Given the description of an element on the screen output the (x, y) to click on. 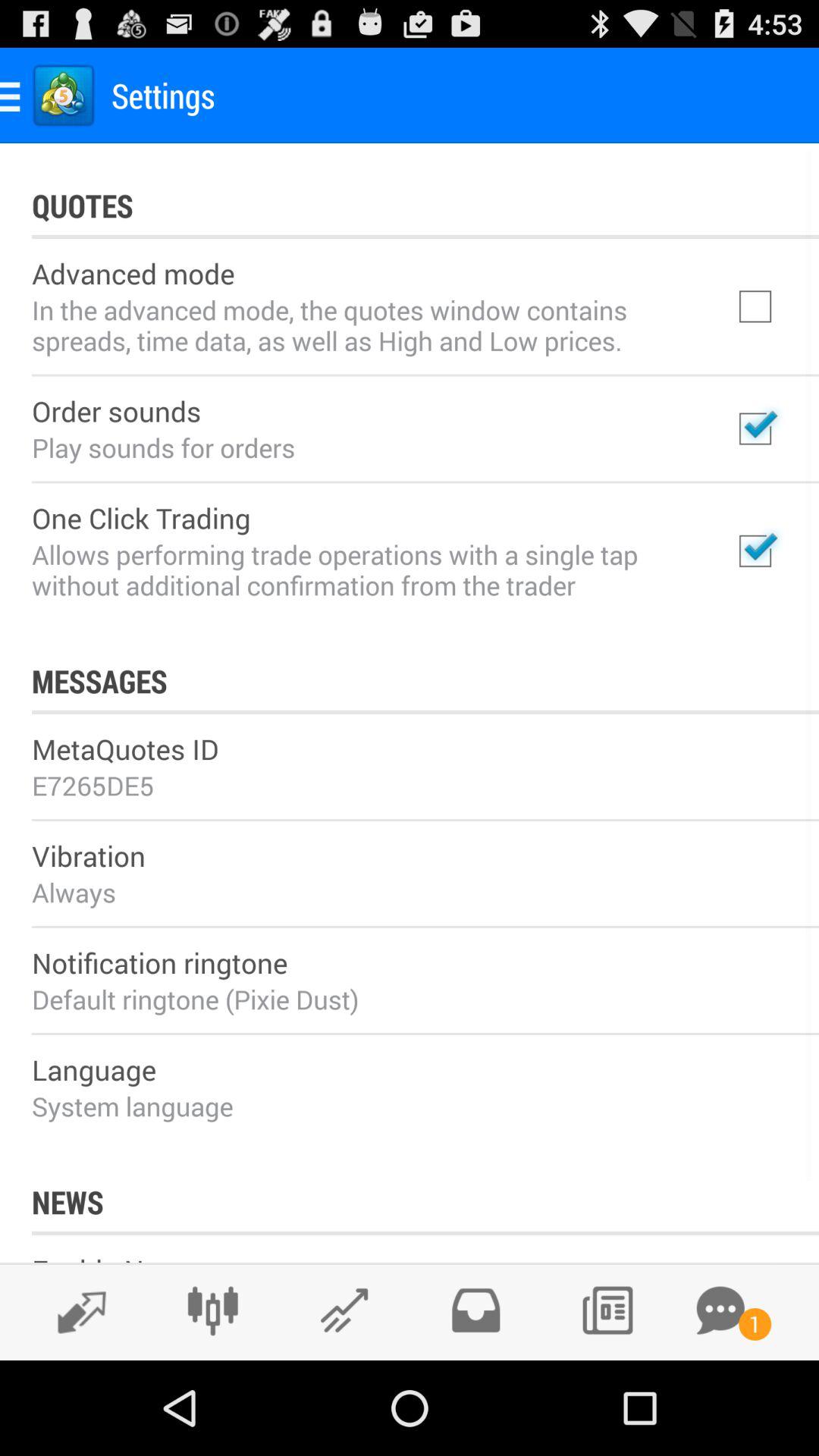
add to tray (475, 1310)
